Given the description of an element on the screen output the (x, y) to click on. 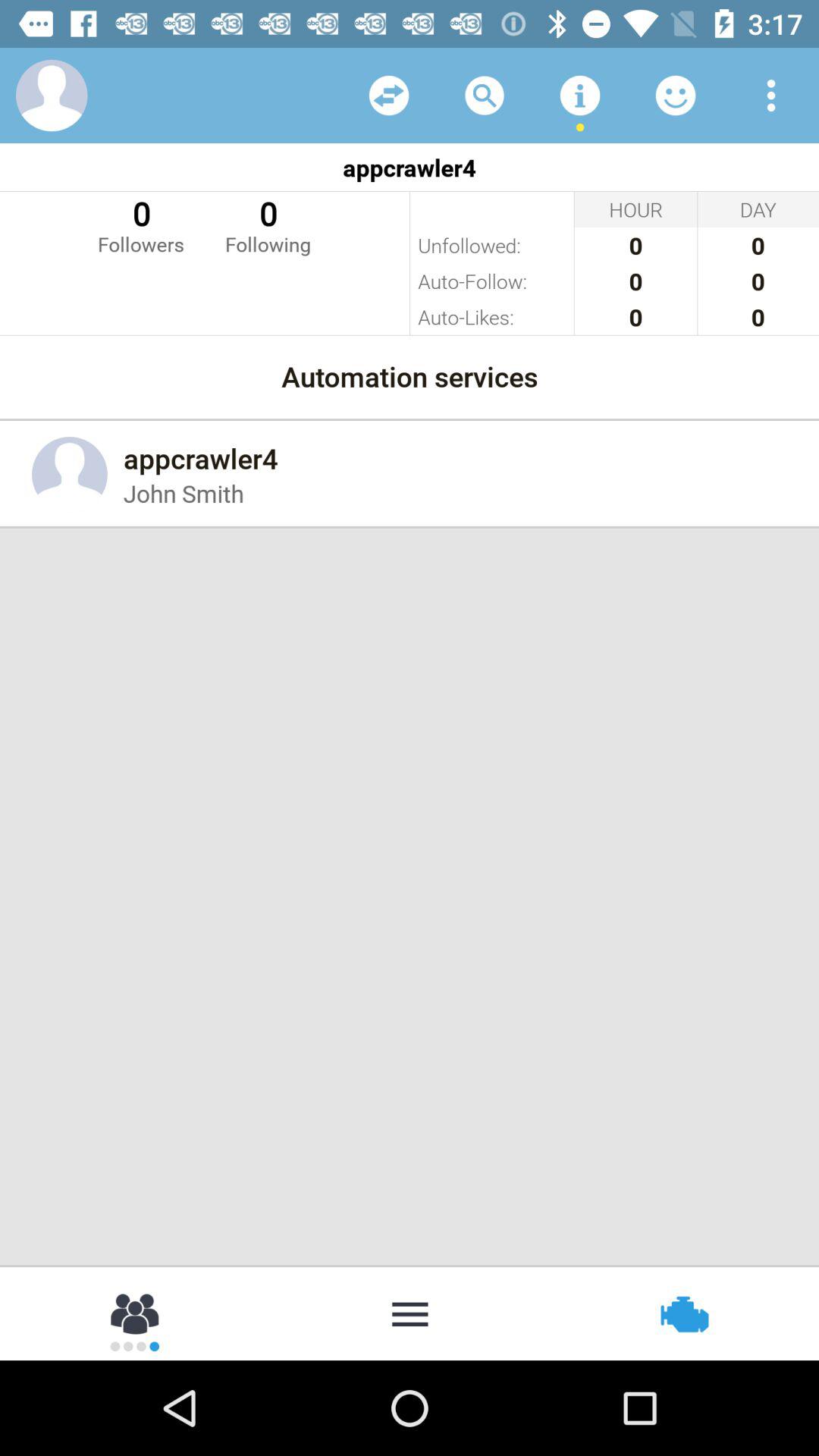
etc (388, 95)
